Given the description of an element on the screen output the (x, y) to click on. 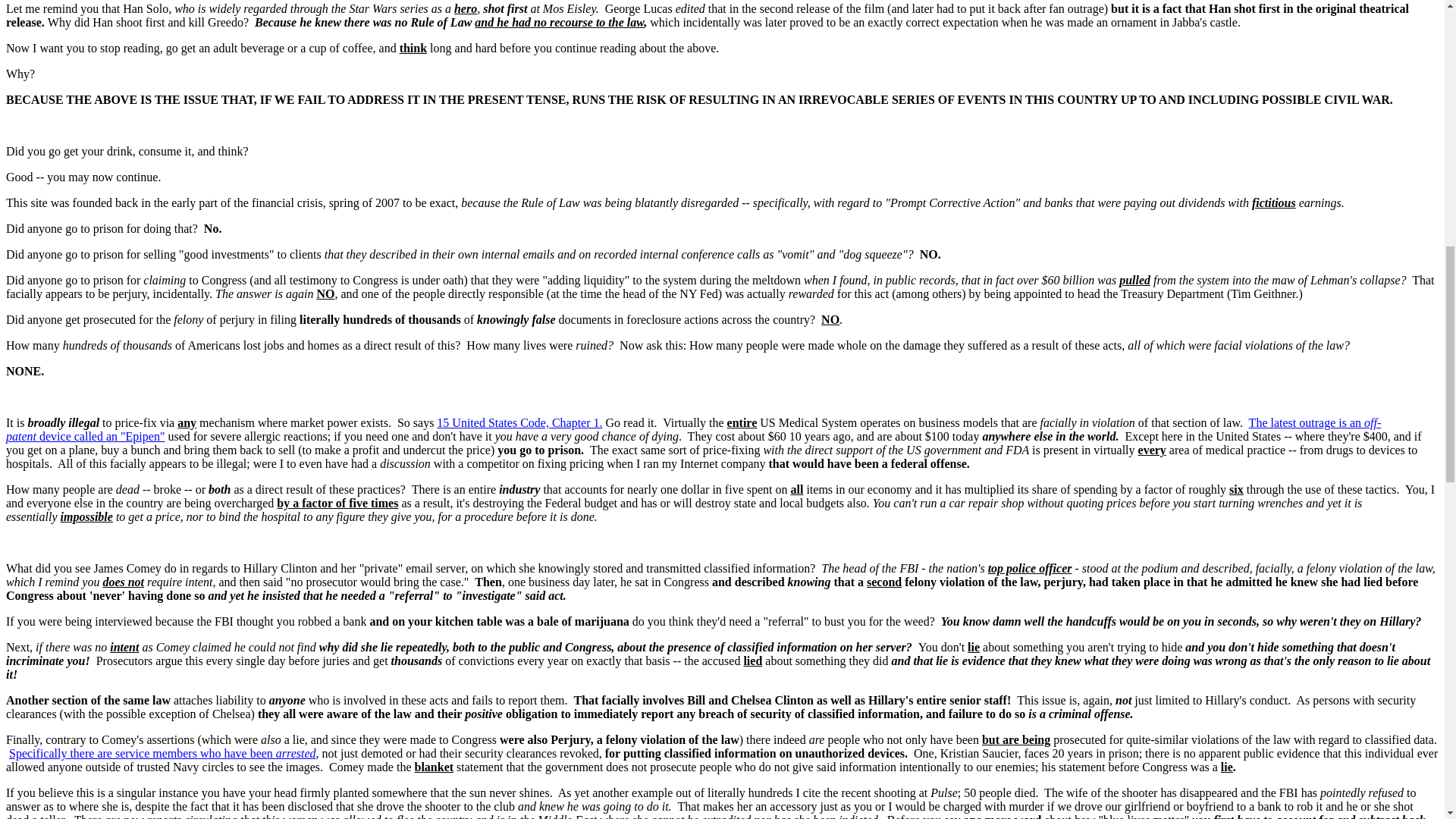
arrested (295, 753)
Specifically there are service members who have been  (142, 753)
15 United States Code, Chapter 1. (519, 422)
